Given the description of an element on the screen output the (x, y) to click on. 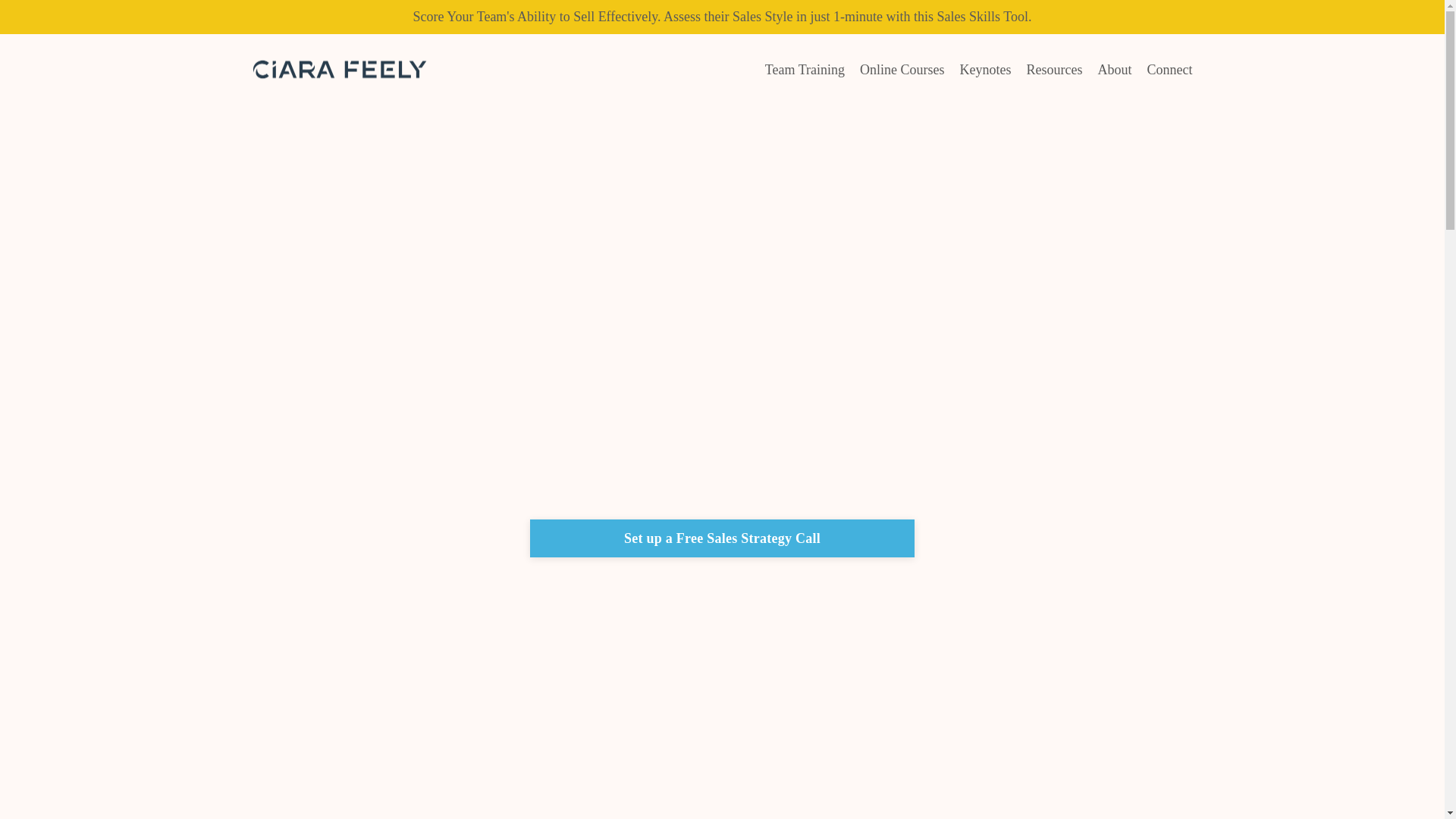
About (1114, 69)
Connect (1169, 69)
Online Courses (902, 69)
Resources (1054, 69)
Keynotes (985, 69)
Set up a Free Sales Strategy Call (722, 538)
Team Training (804, 69)
